Given the description of an element on the screen output the (x, y) to click on. 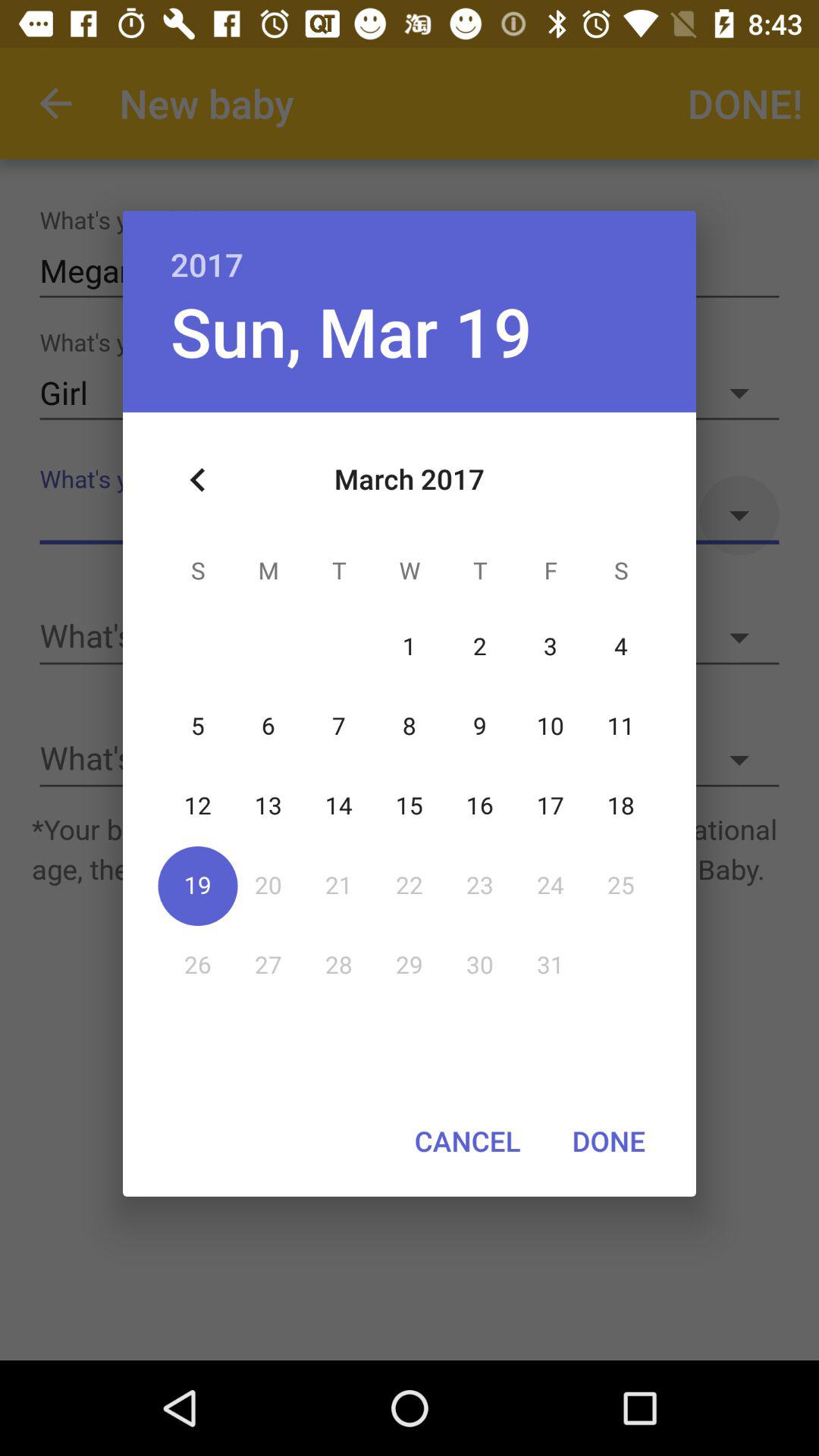
select icon at the top left corner (197, 479)
